Given the description of an element on the screen output the (x, y) to click on. 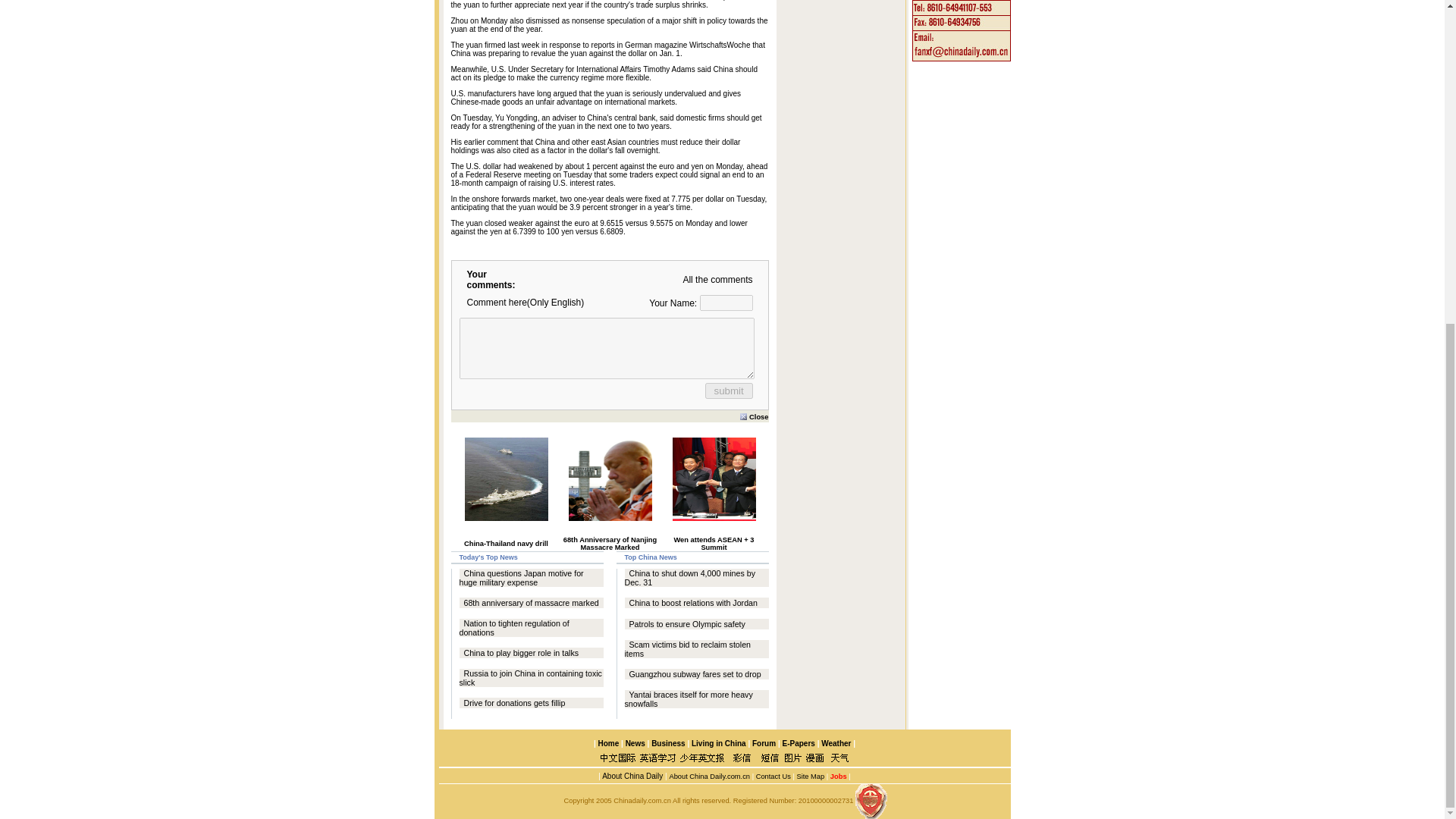
Guangzhou subway fares set to drop (694, 673)
China to boost relations with Jordan (692, 602)
Scam victims bid to reclaim stolen items (687, 648)
Close (753, 416)
Russia to join China in containing toxic slick (531, 678)
Drive for donations gets fillip (515, 702)
Yantai braces itself for more heavy snowfalls (688, 699)
China to play bigger role in talks (521, 652)
 submit  (728, 390)
Patrols to ensure Olympic safety (686, 623)
